Given the description of an element on the screen output the (x, y) to click on. 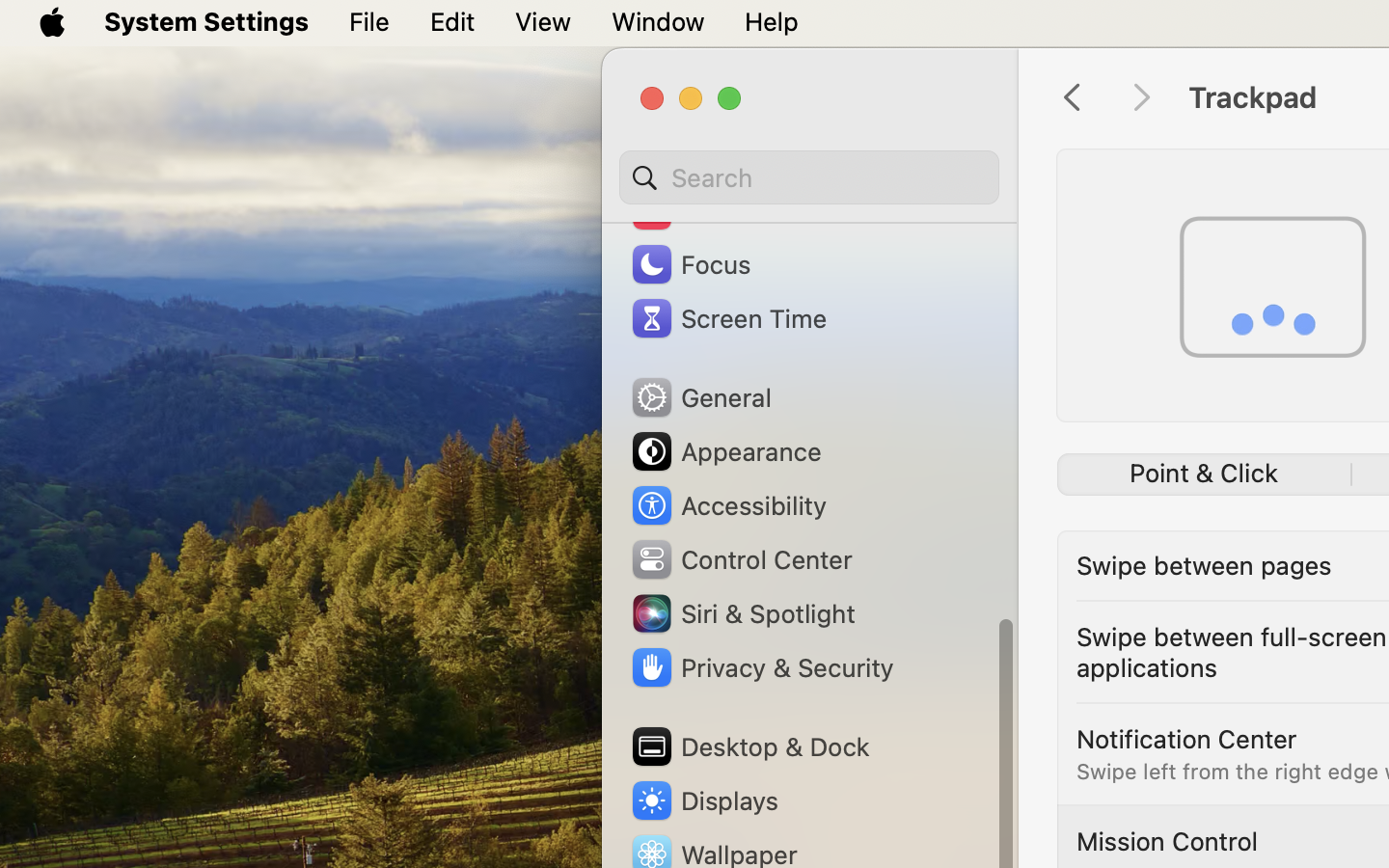
Privacy & Security Element type: AXStaticText (760, 667)
General Element type: AXStaticText (699, 397)
Appearance Element type: AXStaticText (724, 451)
Swipe between pages Element type: AXStaticText (1203, 564)
Accessibility Element type: AXStaticText (727, 505)
